Given the description of an element on the screen output the (x, y) to click on. 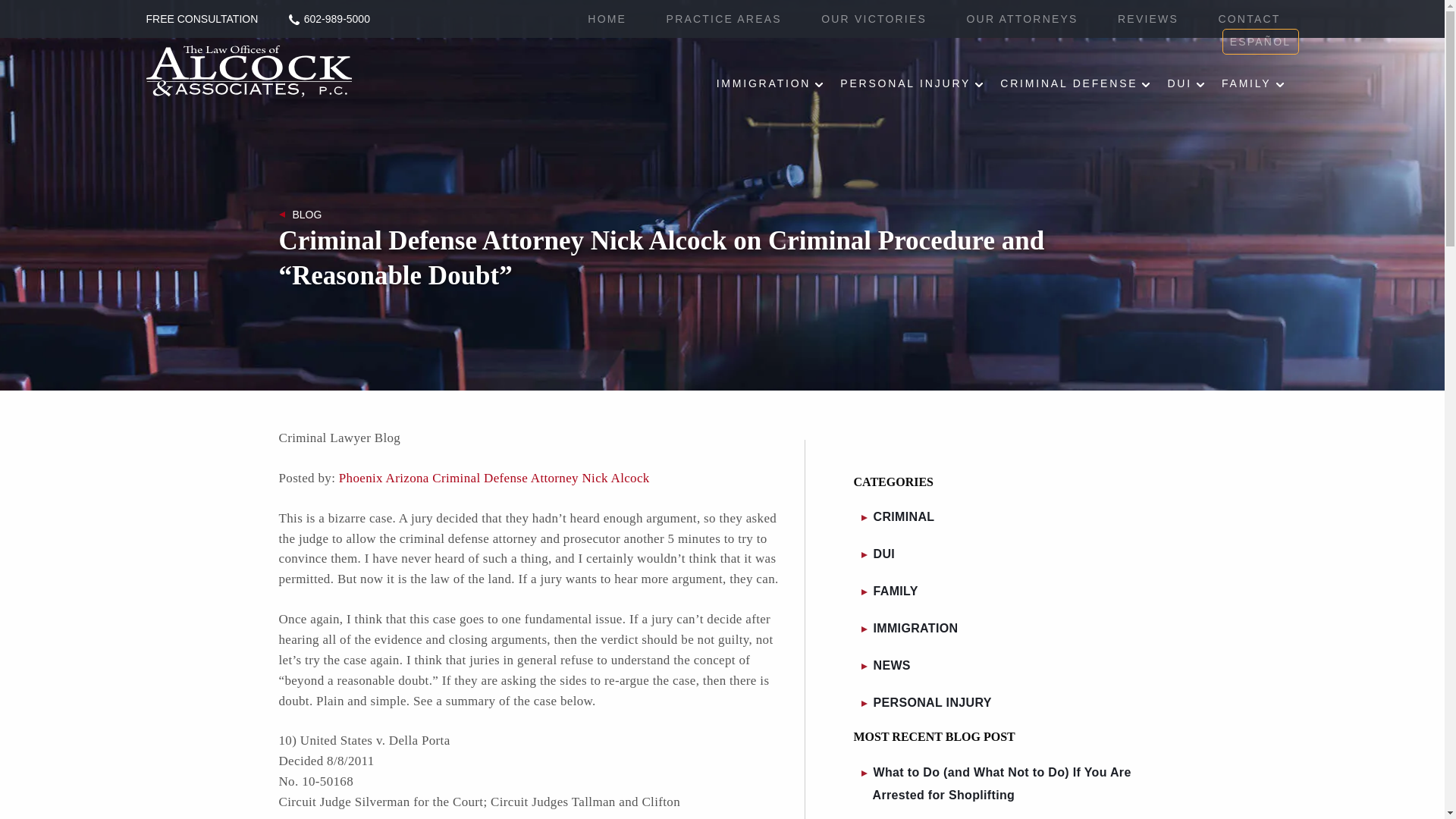
REVIEWS (1147, 19)
IMMIGRATION (770, 82)
OUR ATTORNEYS (1021, 19)
CONTACT (1248, 19)
HOME (607, 19)
PERSONAL INJURY (912, 82)
PRACTICE AREAS (723, 19)
OUR VICTORIES (873, 19)
FREE CONSULTATION (201, 19)
602-989-5000 (328, 19)
